Given the description of an element on the screen output the (x, y) to click on. 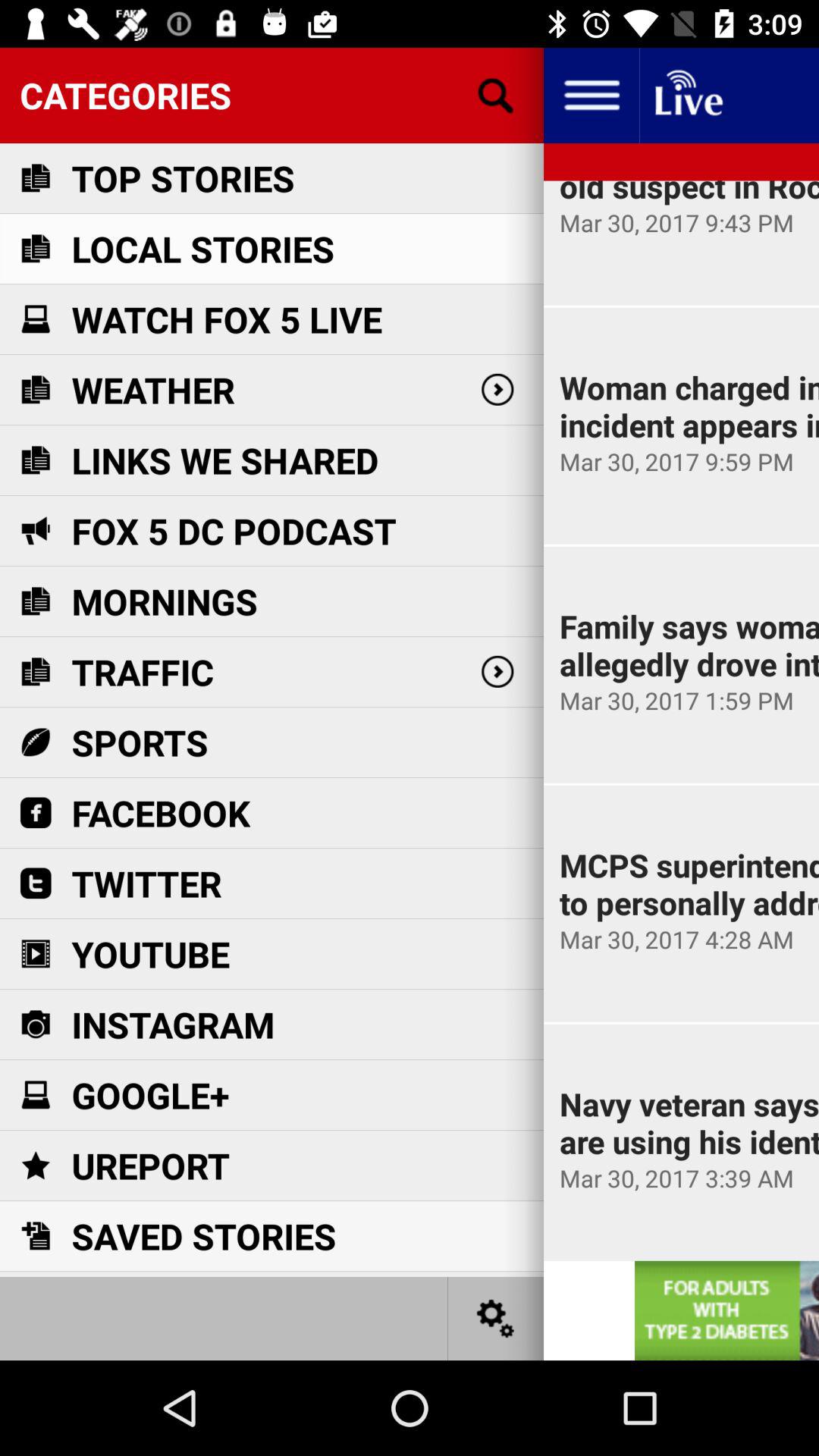
this option find (495, 95)
